Given the description of an element on the screen output the (x, y) to click on. 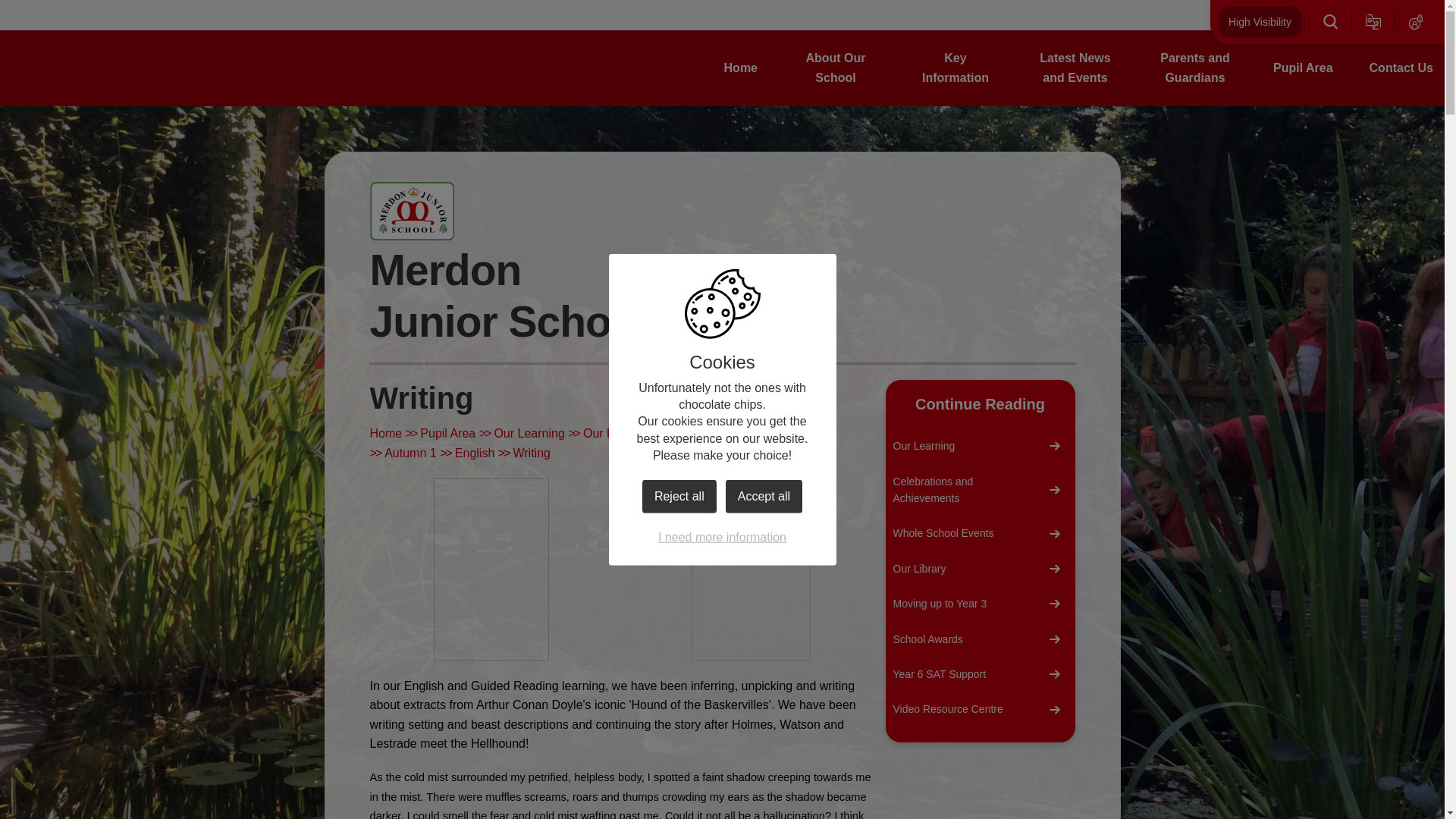
Key Information (955, 67)
Log in (1415, 21)
Google Translate (1373, 21)
Home (740, 67)
Google Search (1330, 21)
About Our School (835, 67)
High Visibility (1259, 21)
